Given the description of an element on the screen output the (x, y) to click on. 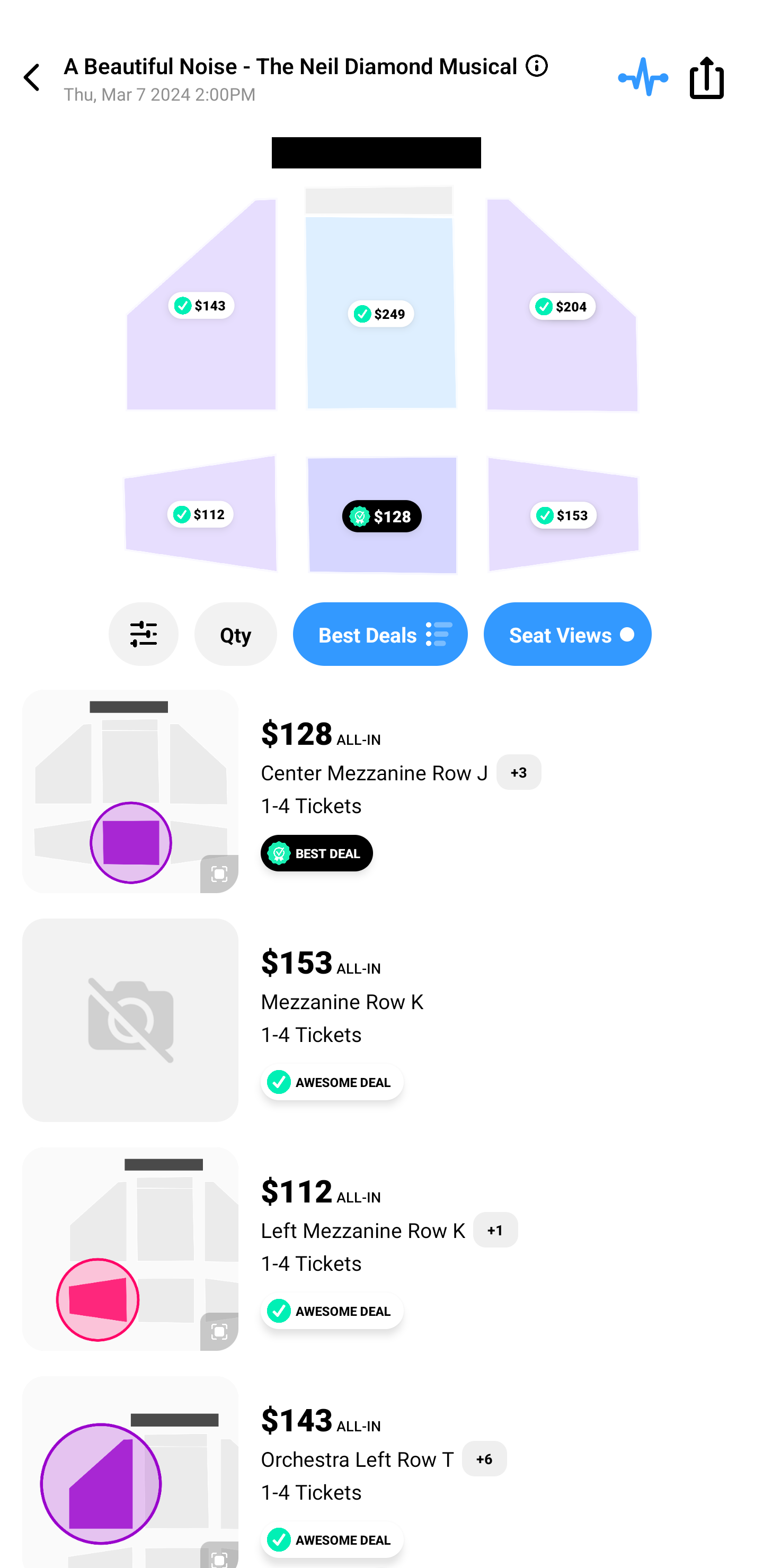
$249 (380, 313)
Qty (235, 634)
Best Deals (379, 634)
Seat Views (567, 634)
+3 (518, 772)
BEST DEAL (316, 852)
AWESOME DEAL (331, 1081)
+1 (495, 1230)
AWESOME DEAL (331, 1310)
+6 (484, 1458)
AWESOME DEAL (331, 1539)
